Given the description of an element on the screen output the (x, y) to click on. 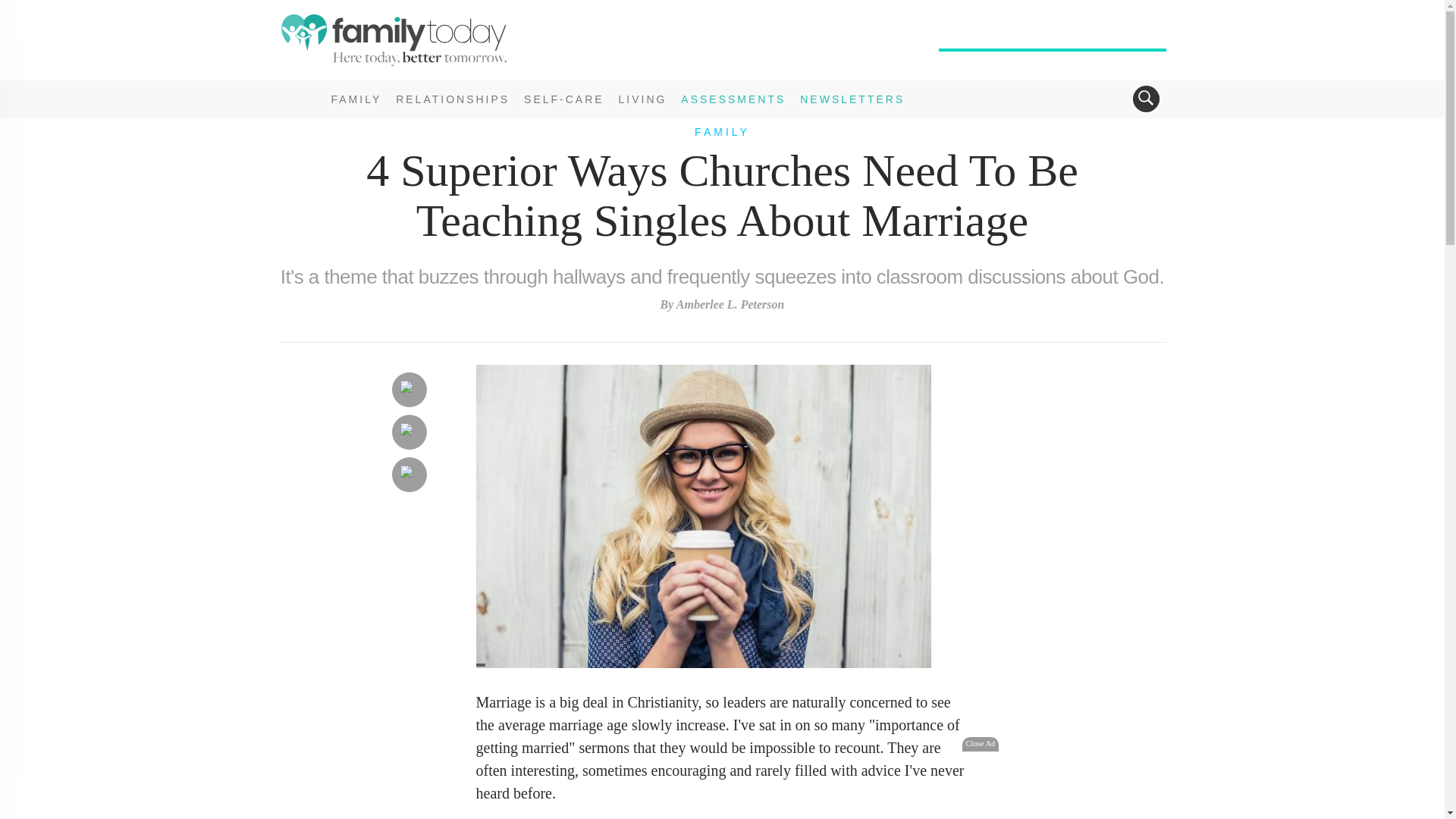
RELATIONSHIPS (452, 99)
FAMILY (722, 131)
3rd party ad content (721, 785)
LIVING (642, 99)
NEWSLETTERS (851, 99)
SELF-CARE (563, 99)
ASSESSMENTS (733, 99)
FAMILY (355, 99)
